Given the description of an element on the screen output the (x, y) to click on. 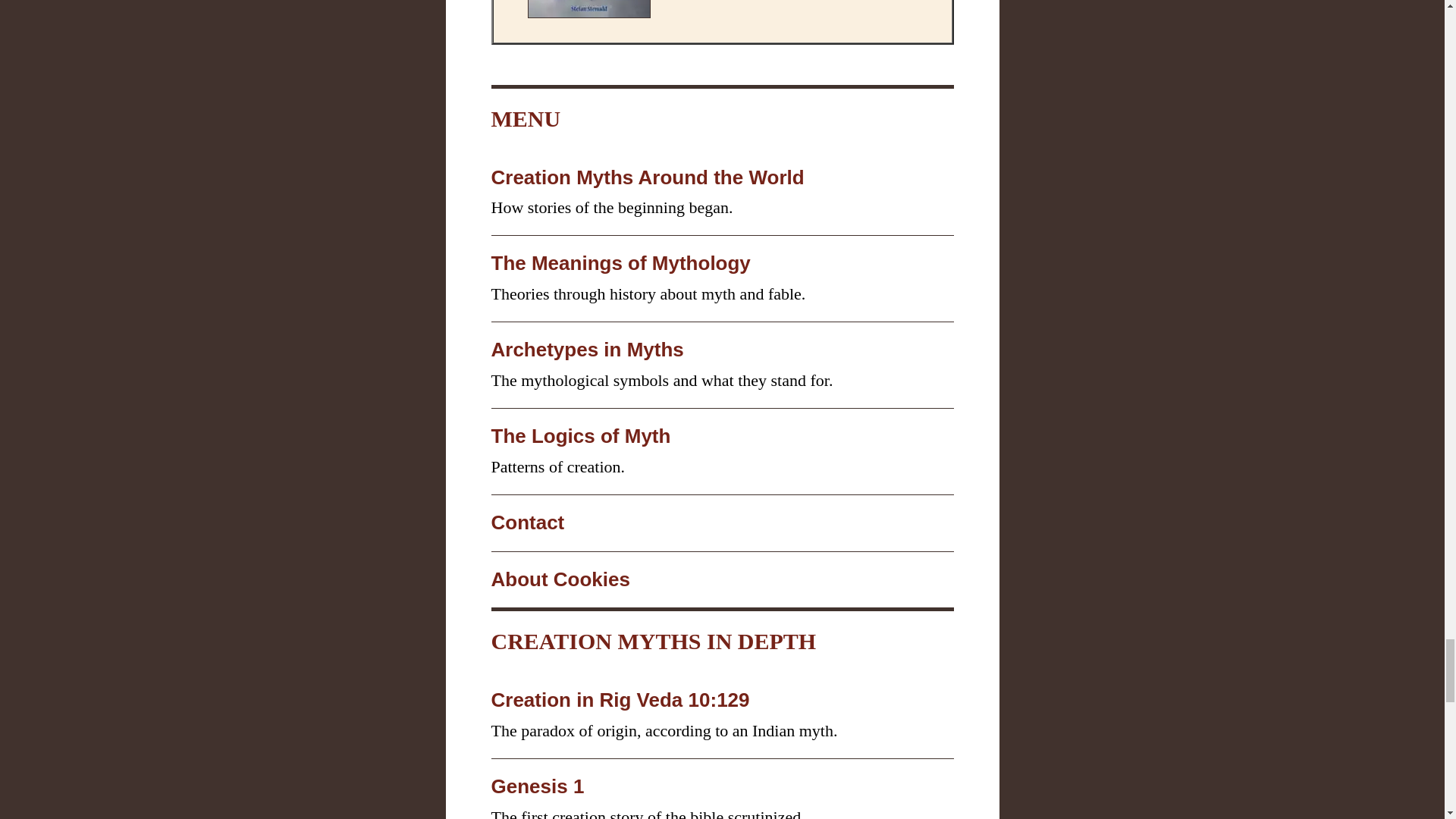
MENU (526, 118)
The Logics of Myth (581, 436)
Contact (528, 522)
Creation Myths Around the World (648, 177)
The Meanings of Mythology (621, 262)
Creation in Rig Veda 10:129 (620, 699)
CREATION MYTHS IN DEPTH (654, 640)
About Cookies (561, 579)
Archetypes in Myths (588, 349)
